Given the description of an element on the screen output the (x, y) to click on. 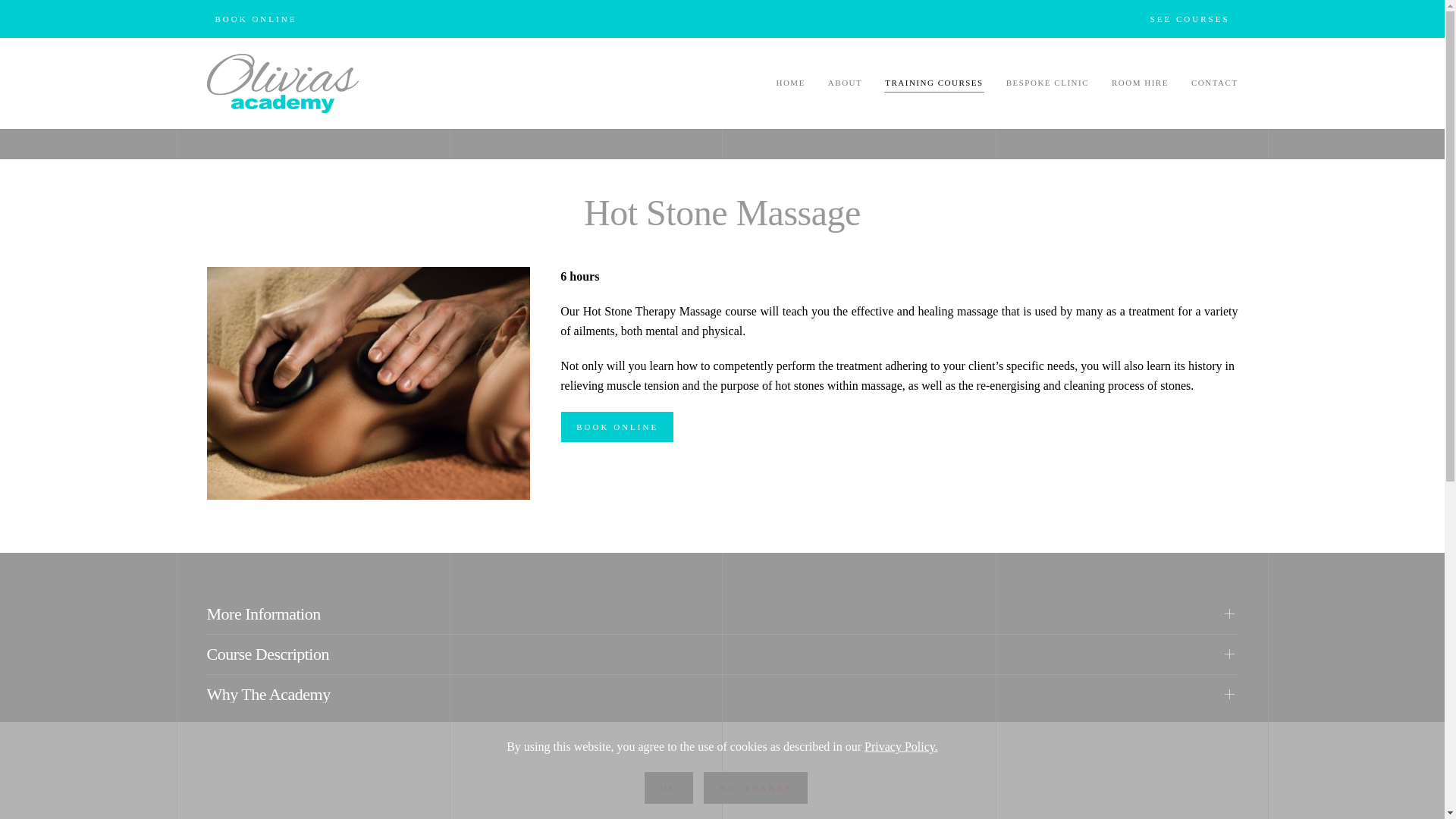
SEE COURSES (1190, 18)
BOOK ONLINE (255, 18)
HOME (789, 83)
ABOUT (844, 83)
NO, THANKS (755, 787)
OK (669, 787)
TRAINING COURSES (933, 83)
Privacy Policy. (900, 746)
